Given the description of an element on the screen output the (x, y) to click on. 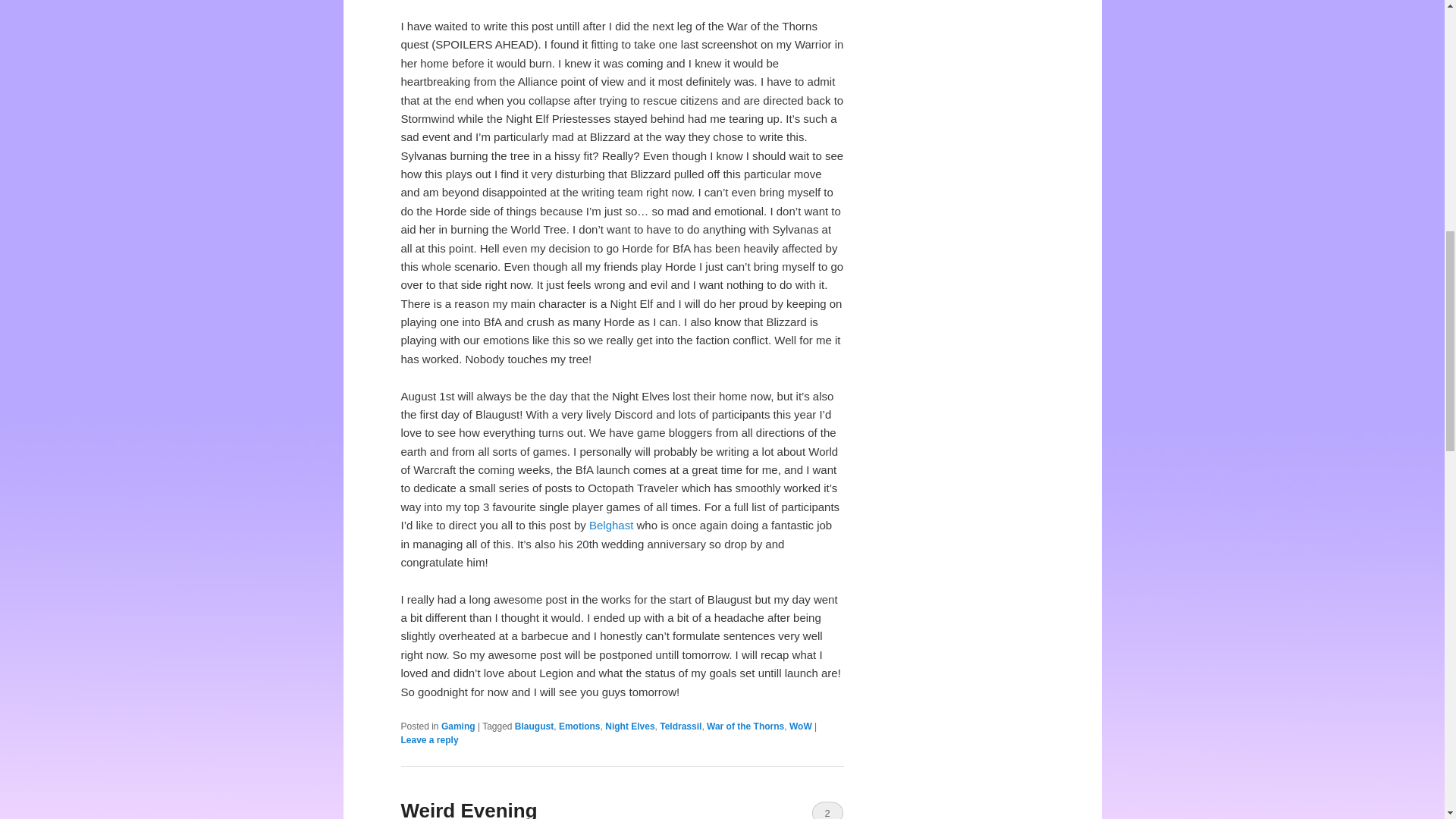
Belghast (611, 524)
Blaugust (534, 726)
Weird Evening (468, 809)
Emotions (579, 726)
WoW (800, 726)
Leave a reply (429, 739)
Teldrassil (680, 726)
Gaming (458, 726)
Night Elves (629, 726)
War of the Thorns (745, 726)
2 (827, 809)
